Given the description of an element on the screen output the (x, y) to click on. 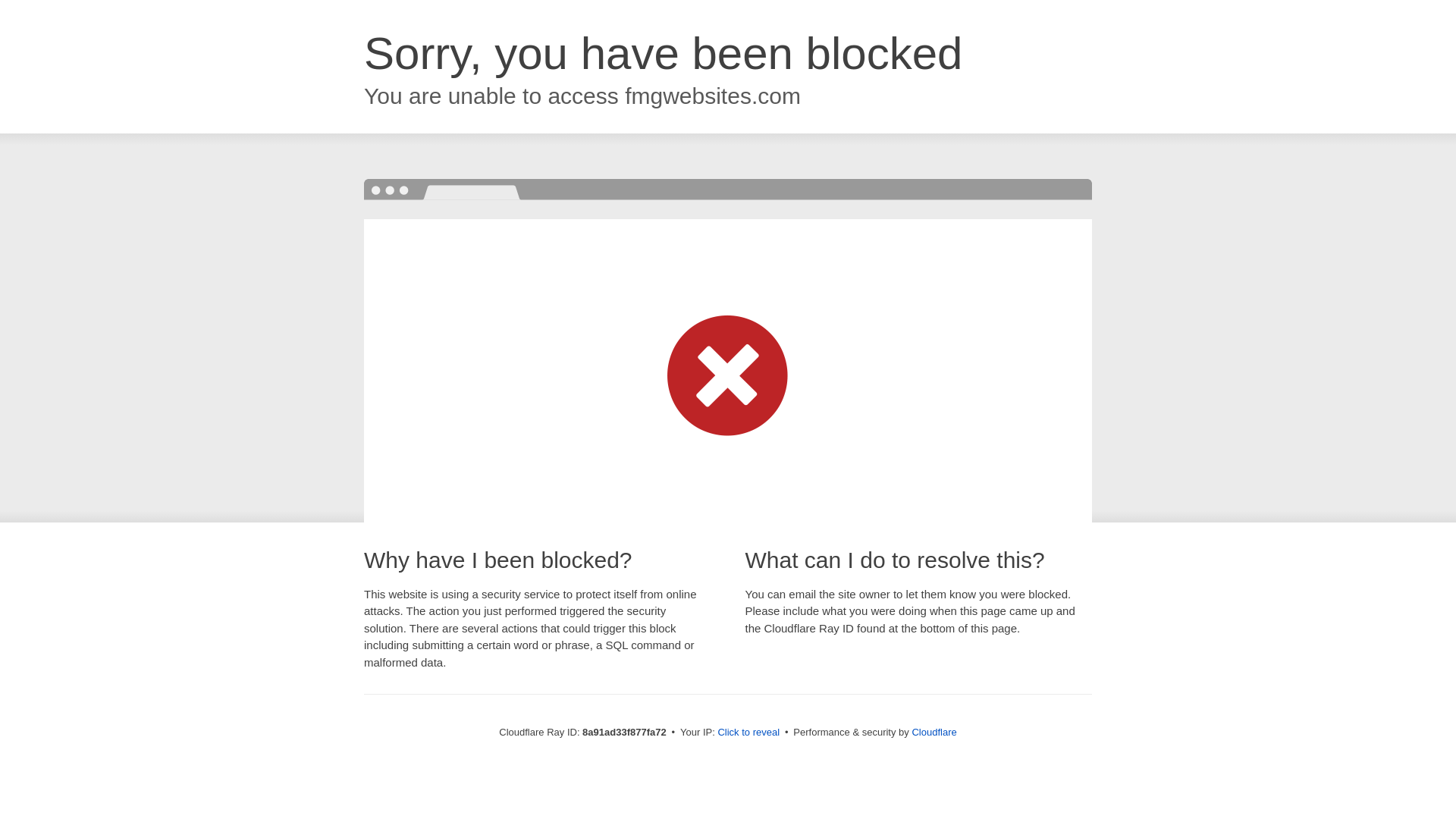
Click to reveal (747, 732)
Cloudflare (933, 731)
